Given the description of an element on the screen output the (x, y) to click on. 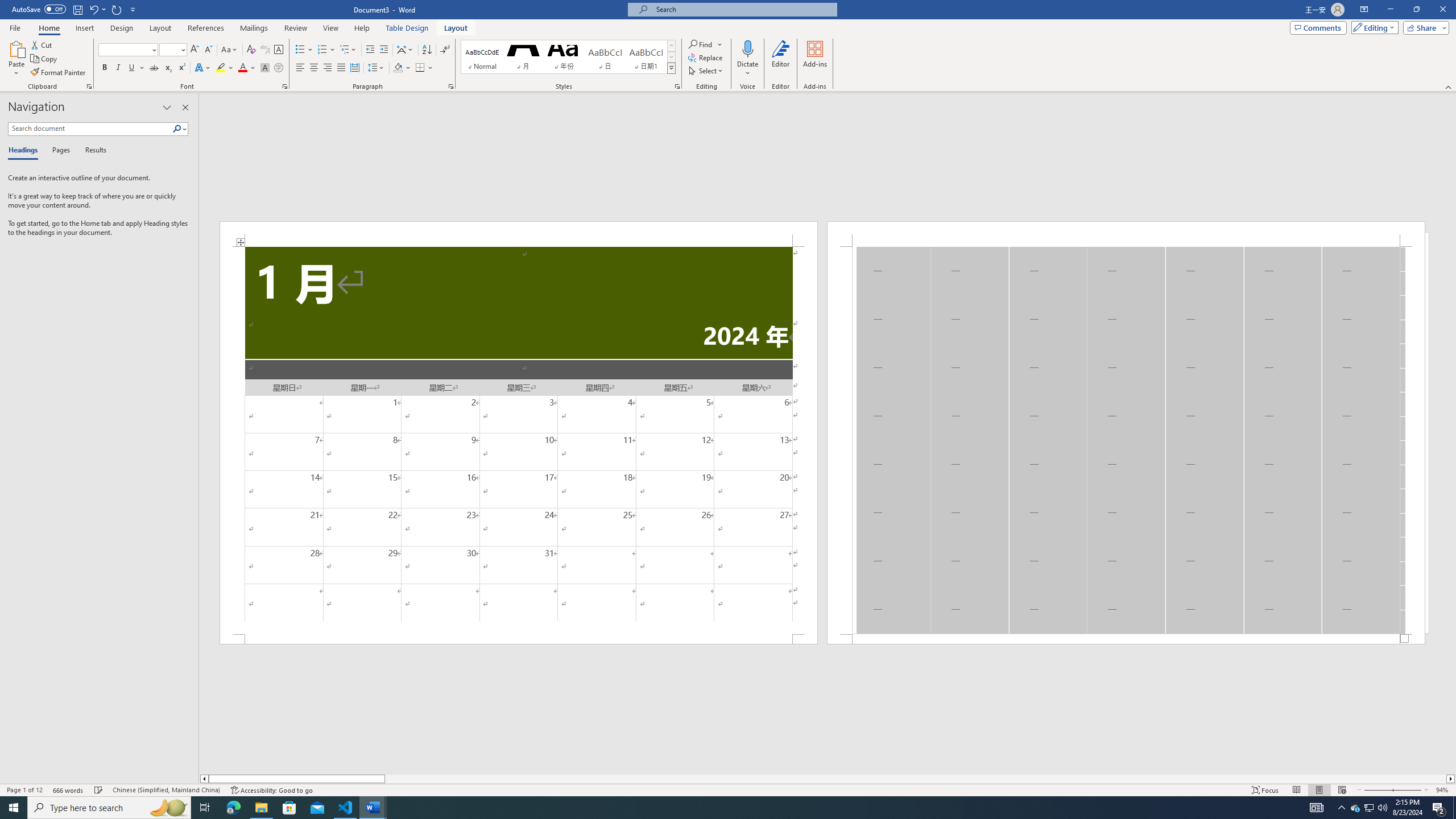
Language Chinese (Simplified, Mainland China) (165, 790)
Footer -Section 1- (1126, 638)
